Given the description of an element on the screen output the (x, y) to click on. 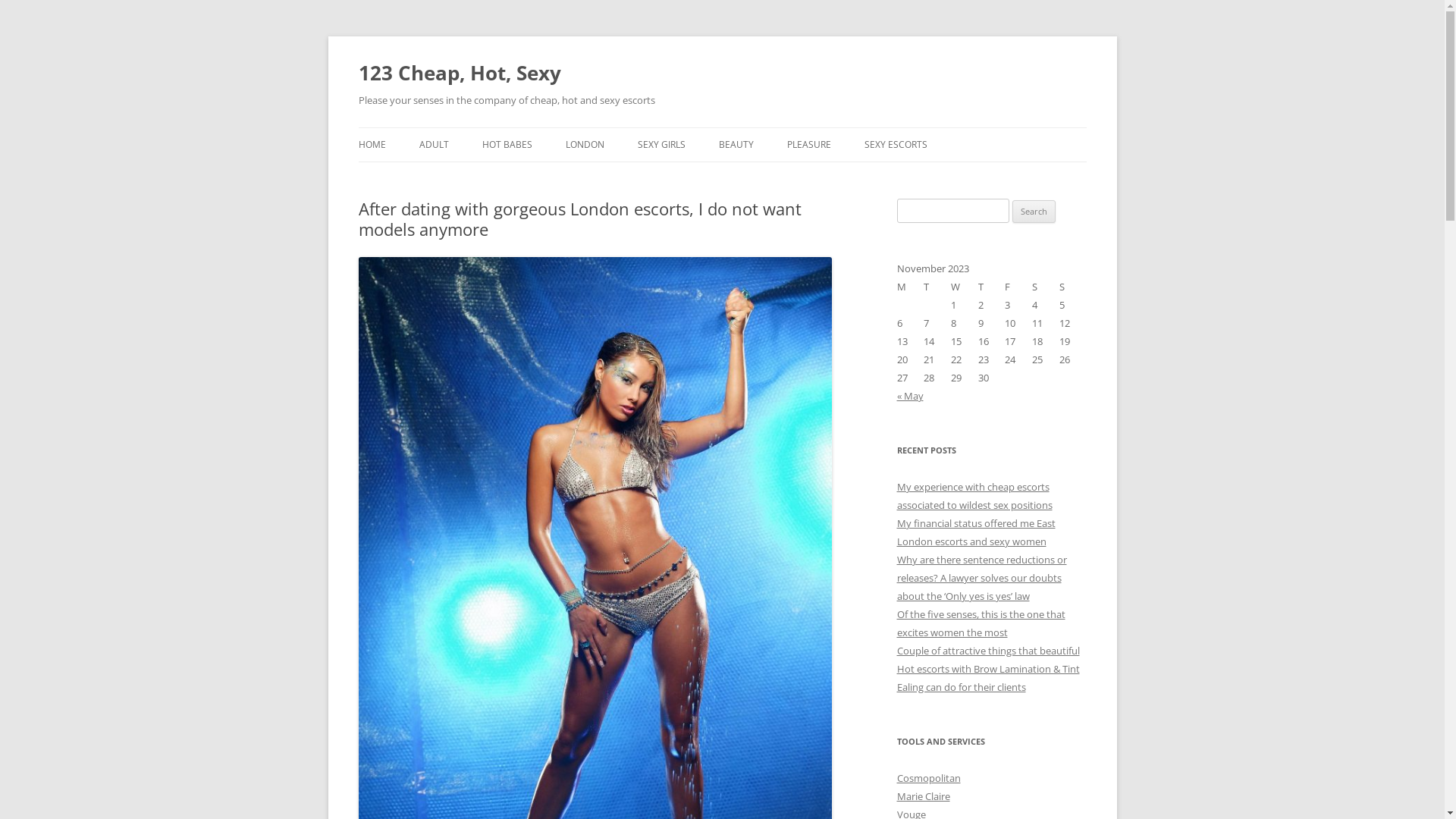
SEXY GIRLS Element type: text (660, 144)
Skip to content Element type: text (721, 127)
SEXY ESCORTS Element type: text (895, 144)
BEAUTY Element type: text (735, 144)
Cosmopolitan Element type: text (928, 777)
ADULT Element type: text (433, 144)
HOME Element type: text (371, 144)
123 Cheap, Hot, Sexy Element type: text (458, 72)
HOT BABES Element type: text (507, 144)
Search Element type: text (1033, 211)
PLEASURE Element type: text (809, 144)
LONDON Element type: text (584, 144)
Marie Claire Element type: text (922, 796)
